Given the description of an element on the screen output the (x, y) to click on. 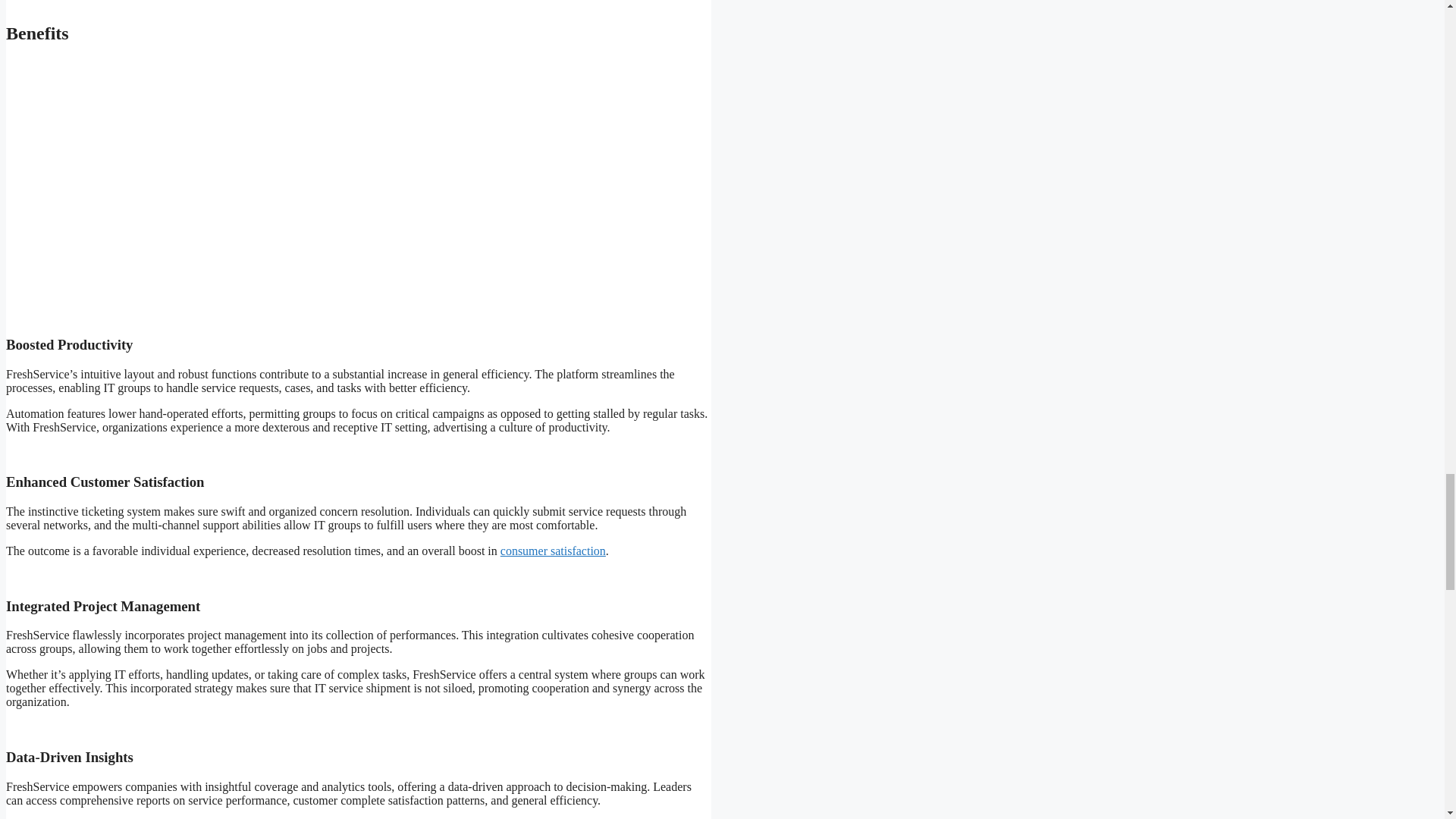
consumer satisfaction (552, 550)
